Given the description of an element on the screen output the (x, y) to click on. 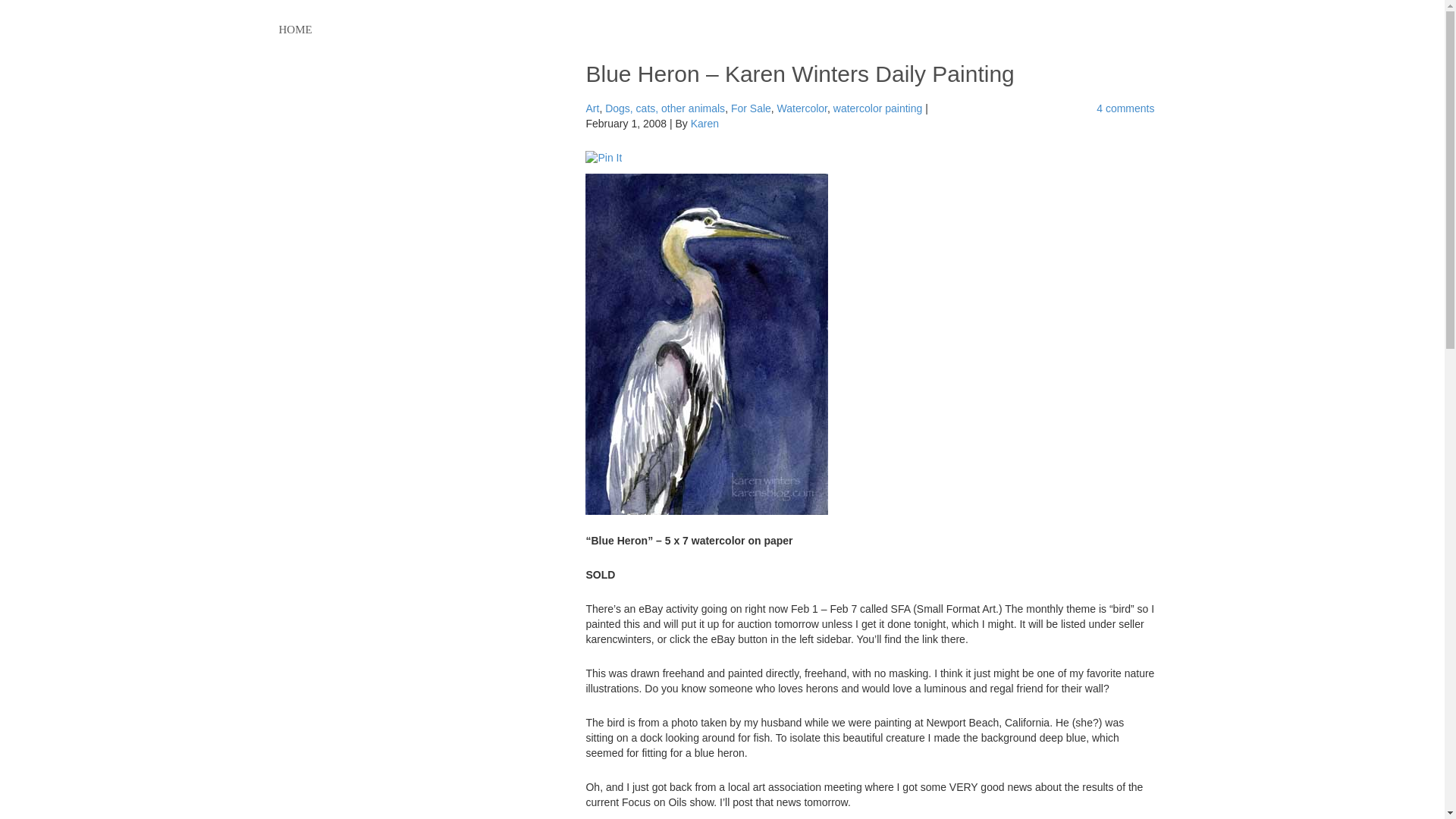
For Sale (750, 108)
HOME (296, 30)
Karen (704, 123)
Art (591, 108)
Watercolor (802, 108)
4 comments (1125, 108)
Pin It (603, 158)
Dogs, cats, other animals (665, 108)
Posts by Karen (704, 123)
watercolor painting (877, 108)
